Given the description of an element on the screen output the (x, y) to click on. 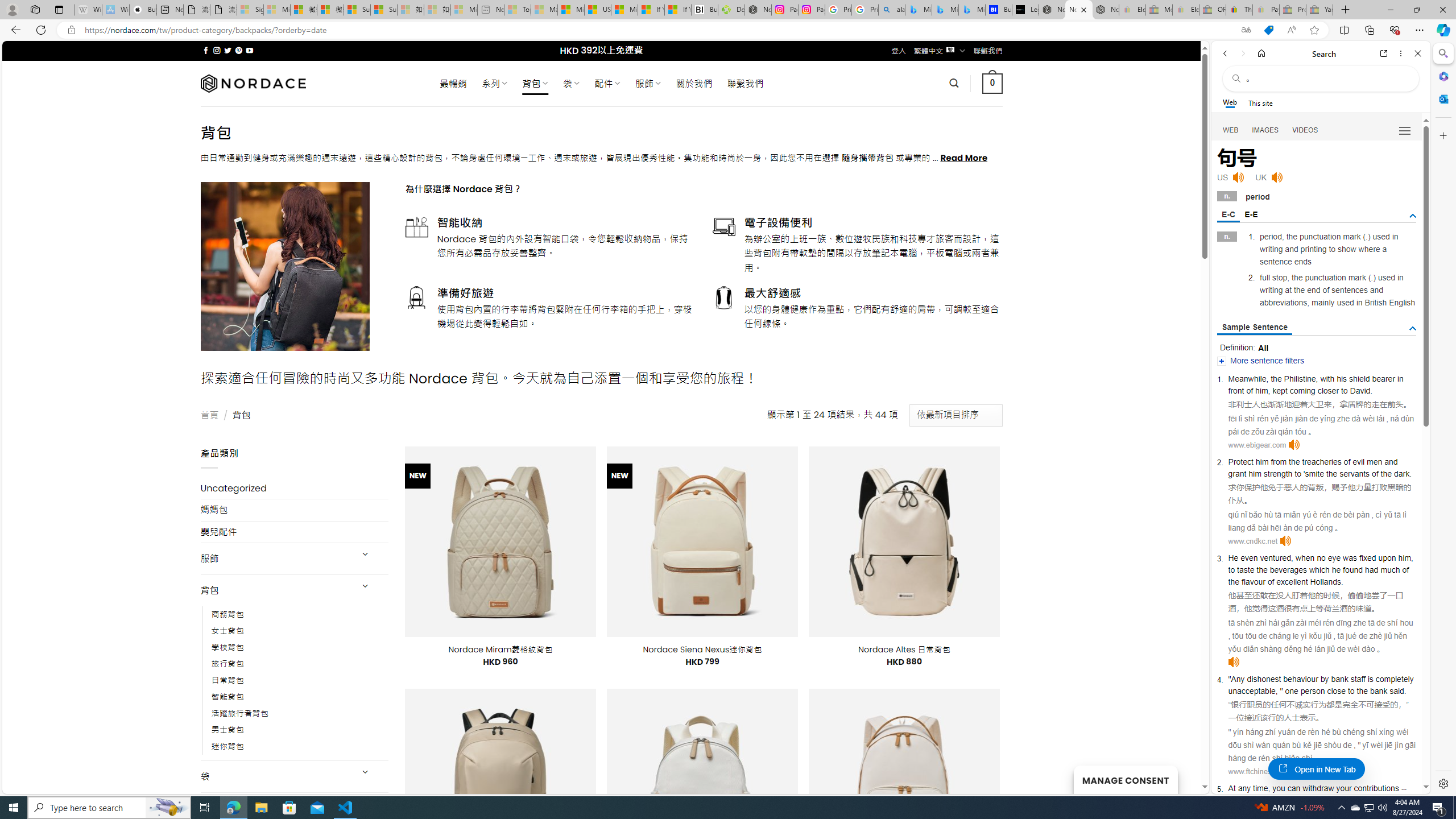
Microsoft Bing Travel - Flights from Hong Kong to Bangkok (917, 9)
closer (1328, 390)
Follow on YouTube (249, 50)
Press Room - eBay Inc. - Sleeping (1292, 9)
kept (1279, 390)
